Given the description of an element on the screen output the (x, y) to click on. 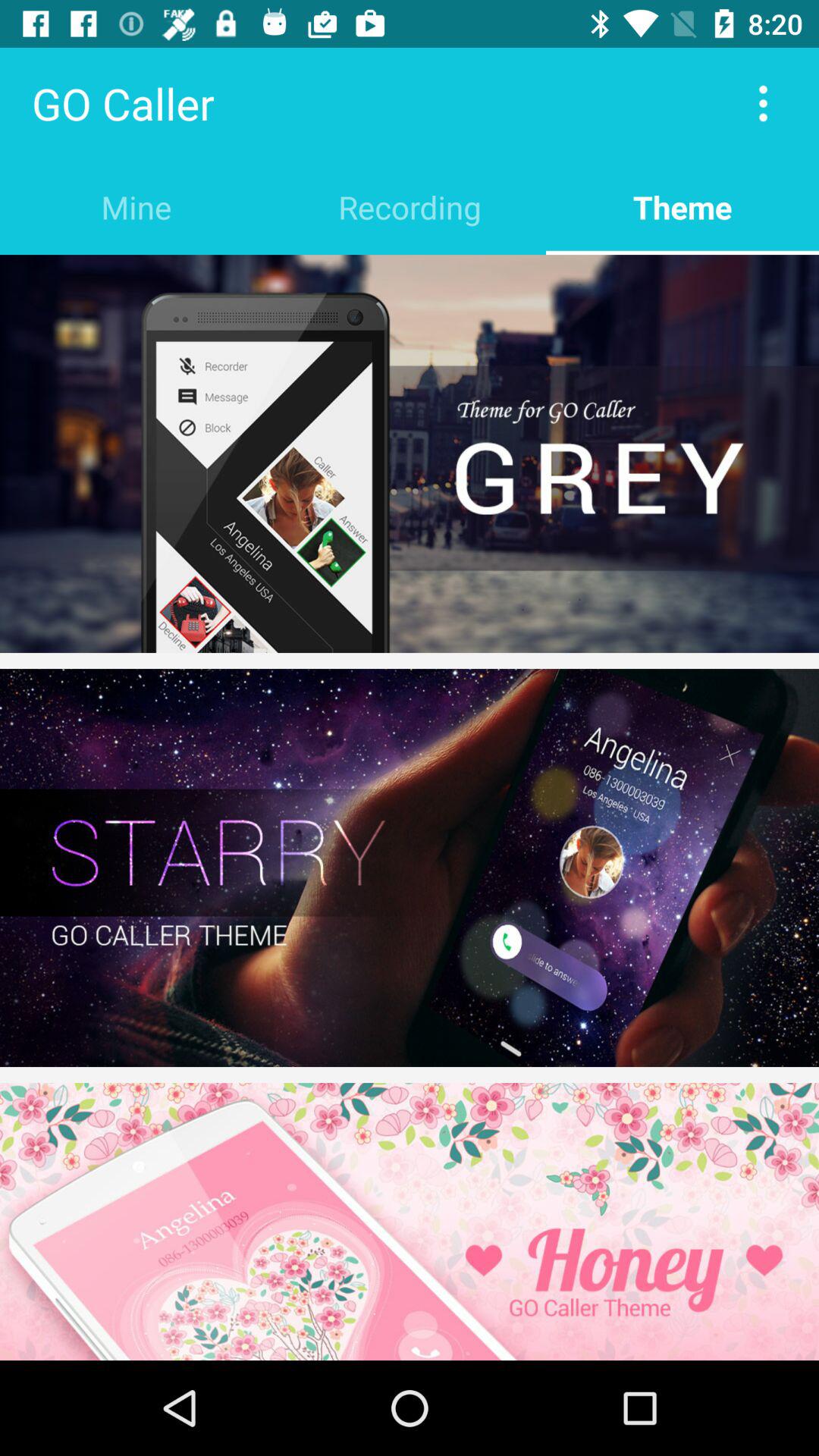
choose the item next to the mine icon (409, 206)
